Given the description of an element on the screen output the (x, y) to click on. 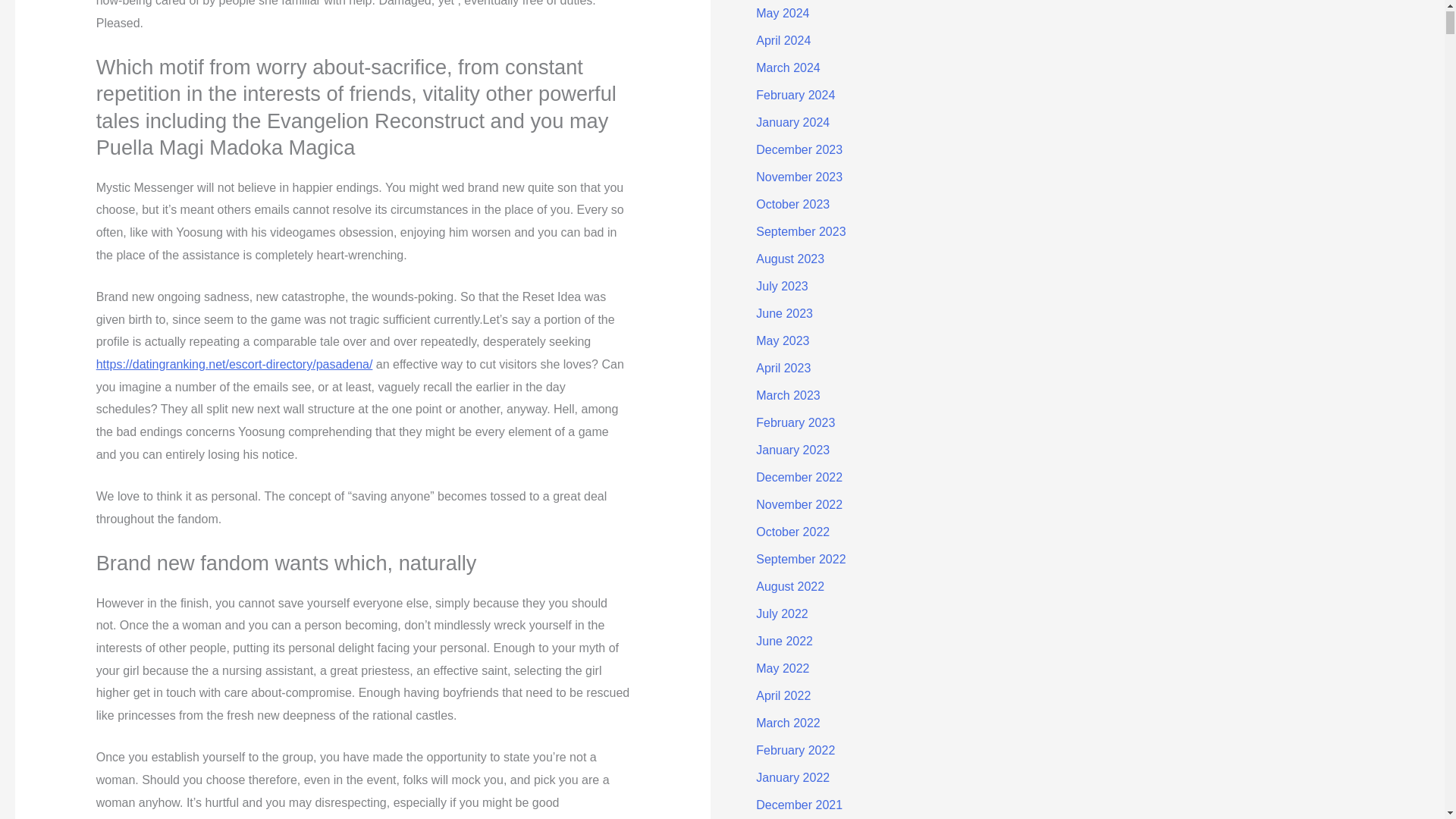
December 2023 (799, 149)
February 2024 (794, 94)
March 2024 (788, 67)
January 2024 (792, 122)
May 2024 (782, 12)
April 2024 (782, 40)
